Given the description of an element on the screen output the (x, y) to click on. 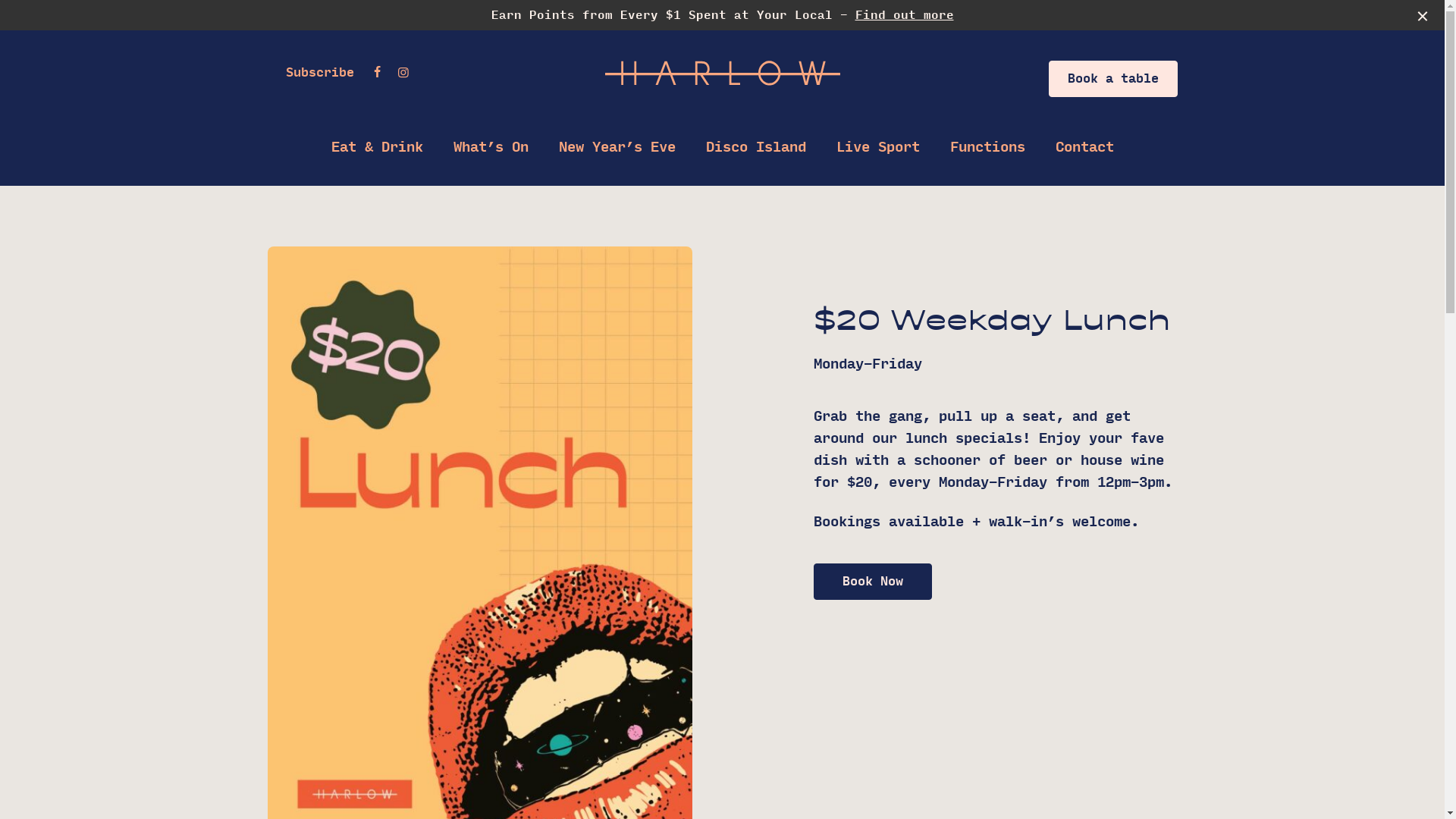
Live Sport Element type: text (877, 147)
Book Now Element type: text (871, 581)
Subscribe Element type: text (319, 72)
Find out more Element type: text (904, 14)
Functions Element type: text (986, 147)
Disco Island Element type: text (755, 147)
Book a table Element type: text (1112, 78)
Eat & Drink Element type: text (376, 147)
Contact Element type: text (1084, 147)
